Given the description of an element on the screen output the (x, y) to click on. 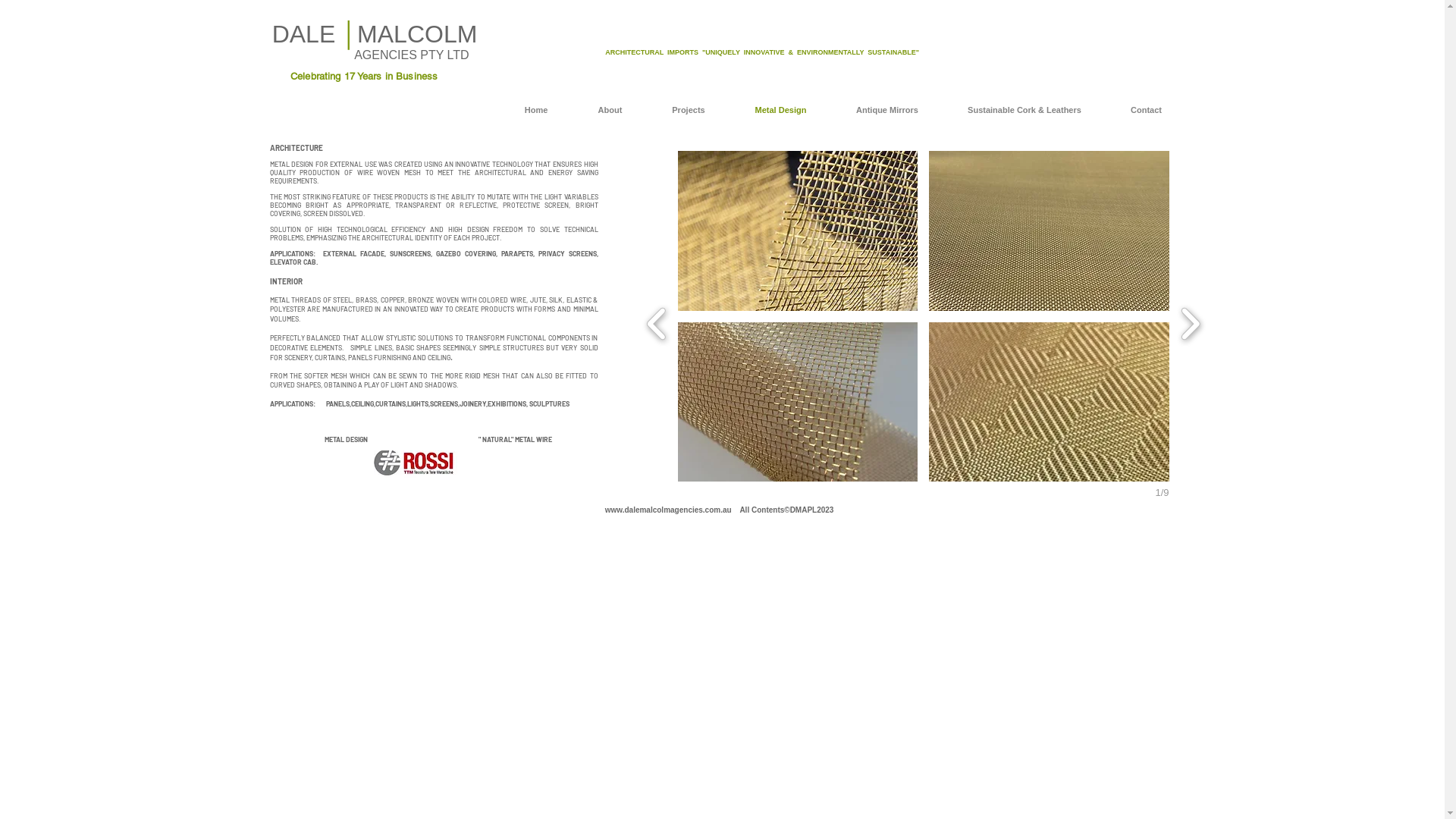
About Element type: text (610, 110)
Metal Design Element type: text (780, 110)
Contact Element type: text (1145, 110)
Antique Mirrors Element type: text (886, 110)
www.dalemalcolmagencies.com.au Element type: text (668, 509)
Home Element type: text (535, 110)
Sustainable Cork & Leathers Element type: text (1024, 110)
Projects Element type: text (688, 110)
